Given the description of an element on the screen output the (x, y) to click on. 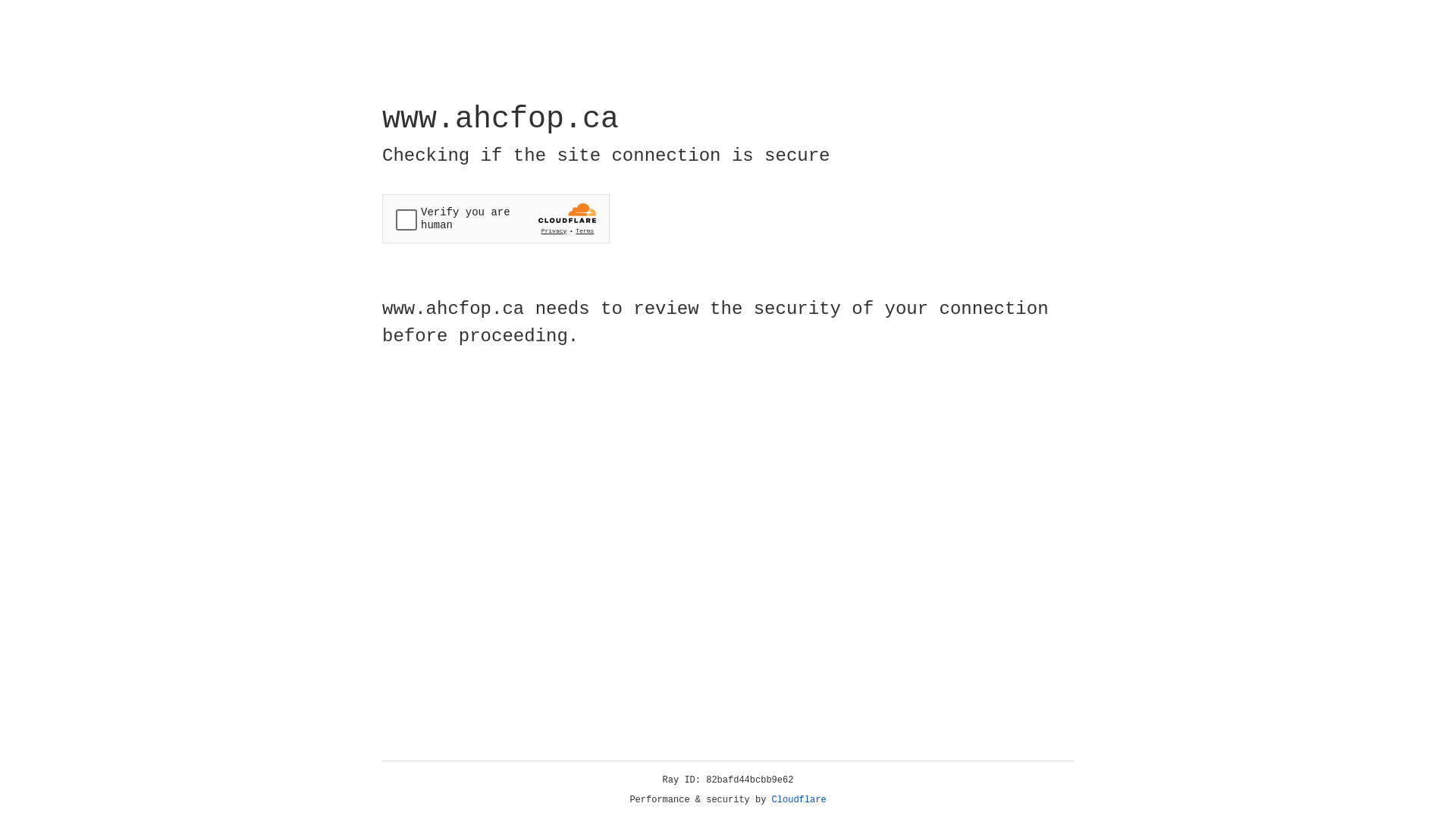
Widget containing a Cloudflare security challenge Element type: hover (495, 218)
Cloudflare Element type: text (798, 799)
